Given the description of an element on the screen output the (x, y) to click on. 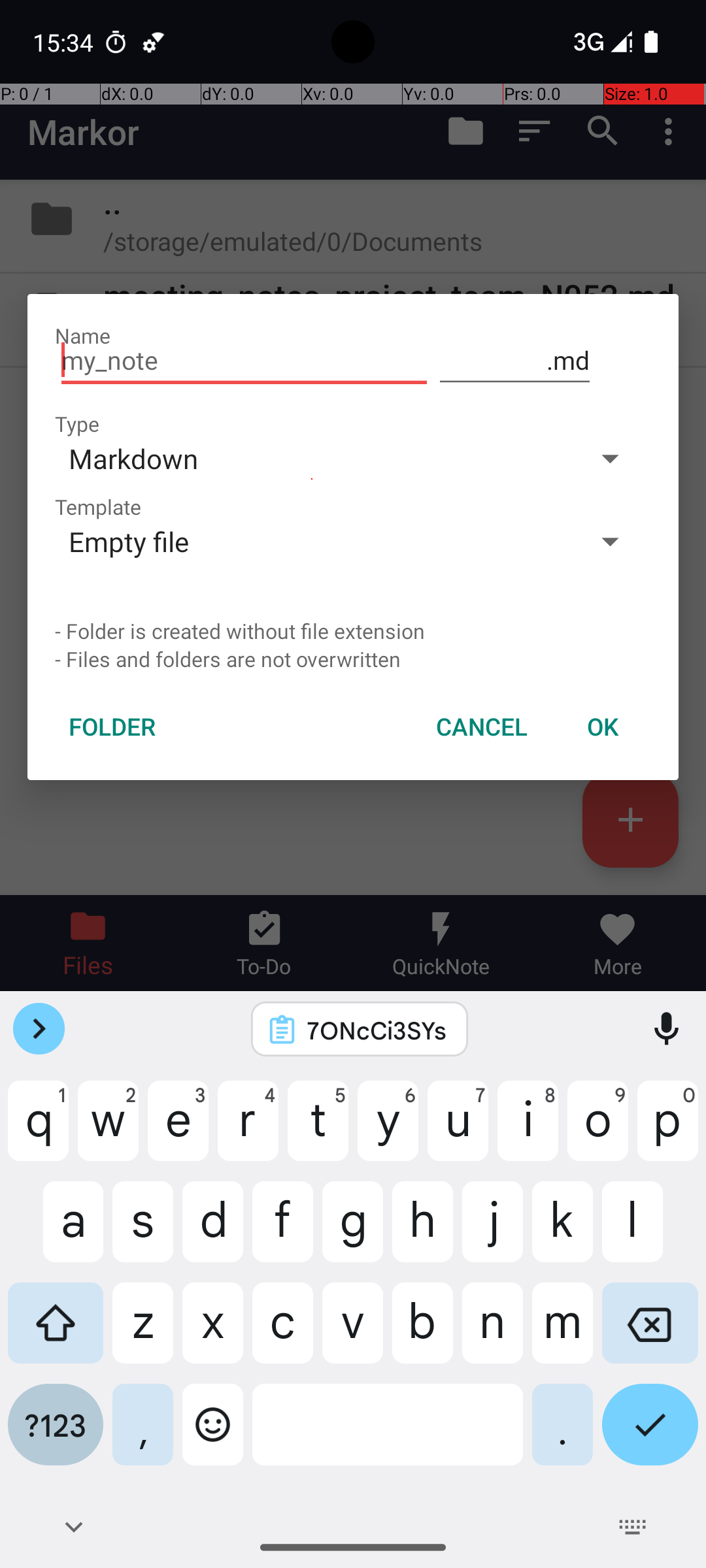
7ONcCi3SYs Element type: android.widget.TextView (376, 1029)
